Given the description of an element on the screen output the (x, y) to click on. 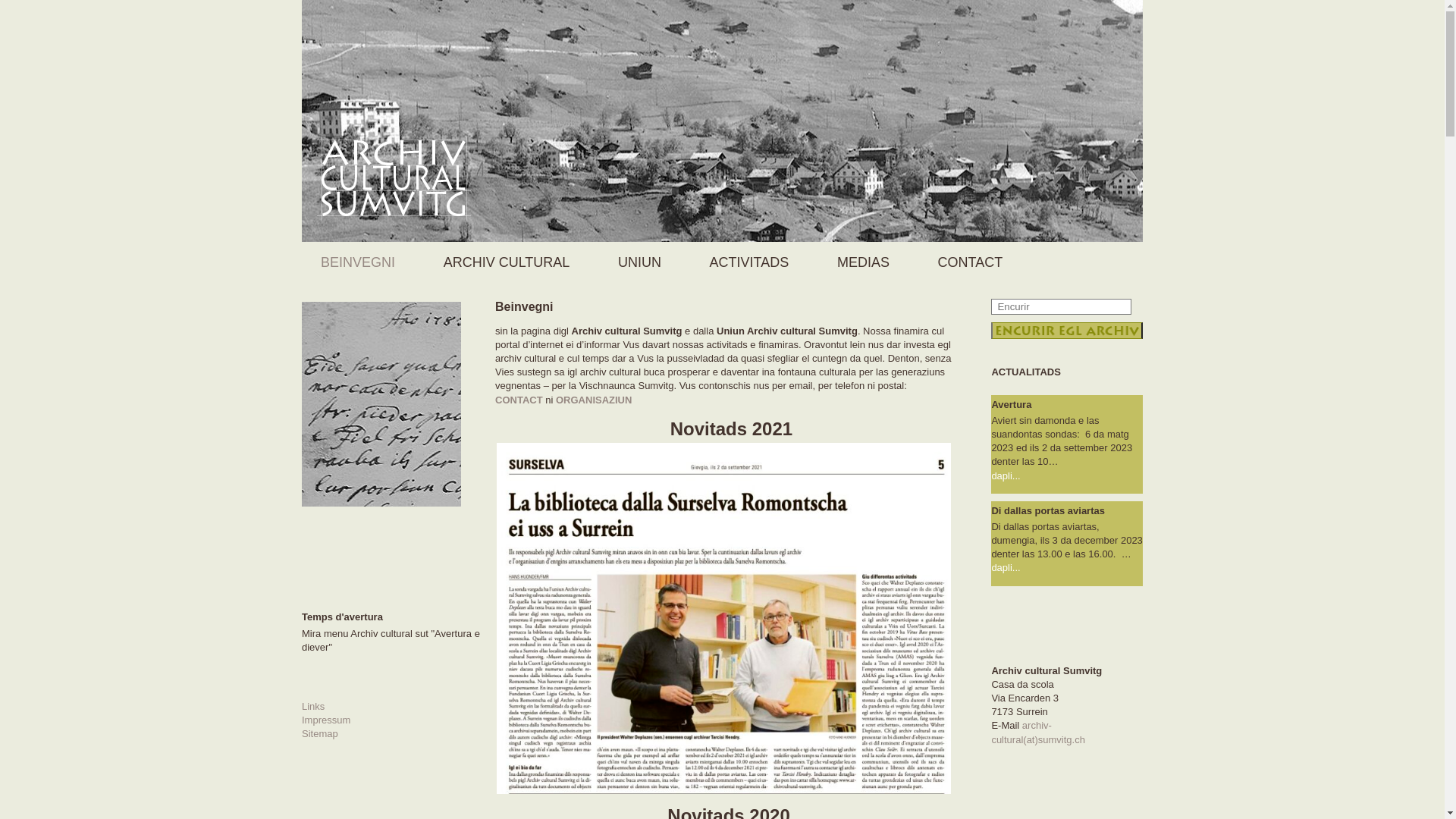
MEDIAS Element type: text (867, 262)
BEINVEGNI Element type: text (361, 262)
archiv-cultural(at)sumvitg.ch Element type: text (1038, 731)
ARCHIV CULTURAL Element type: text (510, 262)
Impressum Element type: text (325, 719)
UNIUN Element type: text (643, 262)
dapli... Element type: text (1066, 567)
Sitemap Element type: text (319, 733)
CONTACT Element type: text (974, 262)
ORGANISAZIUN Element type: text (593, 399)
ACTIVITADS Element type: text (752, 262)
Links Element type: text (312, 706)
CONTACT Element type: text (518, 399)
dapli... Element type: text (1066, 475)
